Given the description of an element on the screen output the (x, y) to click on. 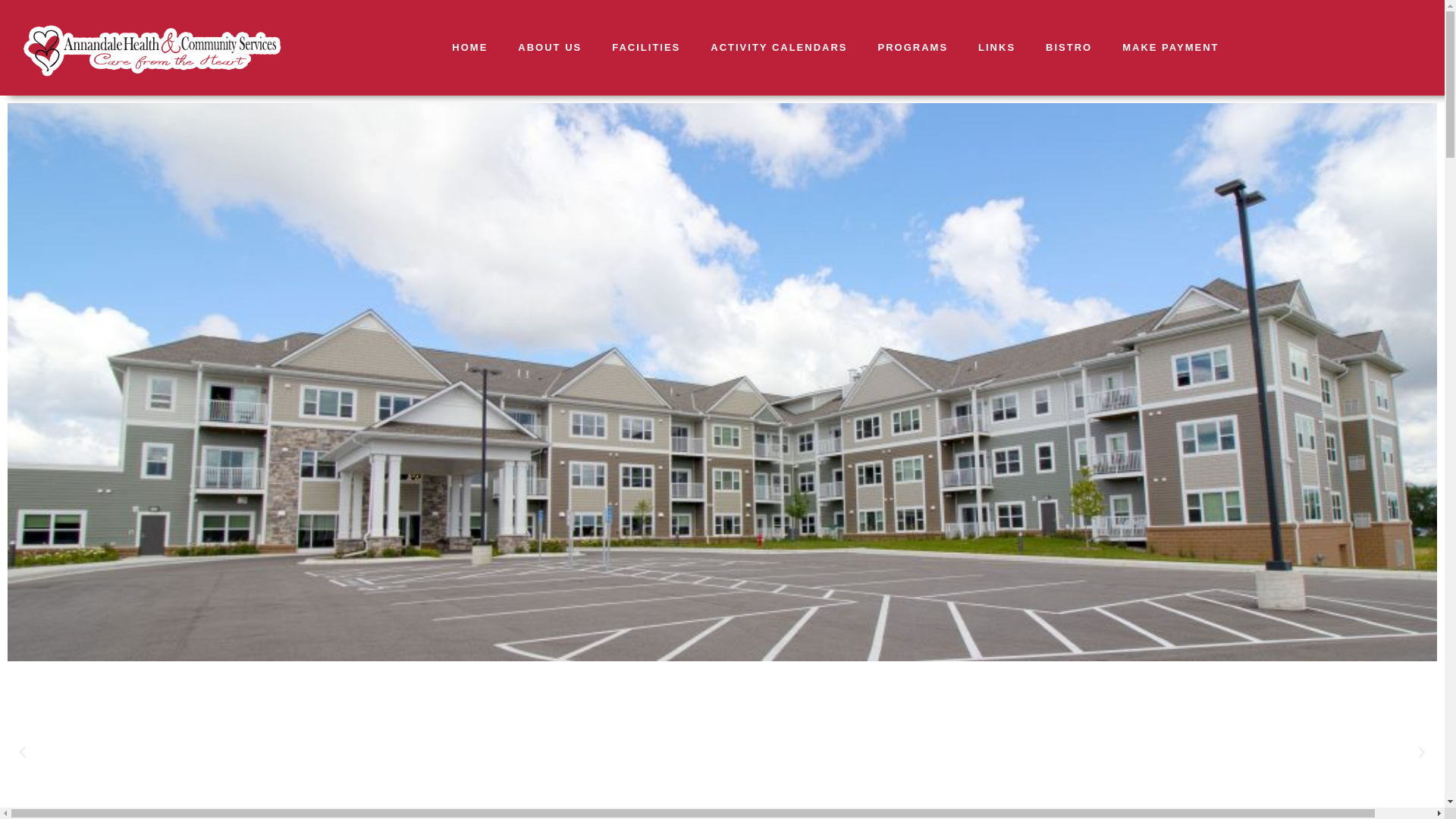
PROGRAMS (913, 47)
BISTRO (1068, 47)
FACILITIES (645, 47)
MAKE PAYMENT (1169, 47)
LINKS (996, 47)
HOME (469, 47)
ACTIVITY CALENDARS (778, 47)
ABOUT US (549, 47)
